Given the description of an element on the screen output the (x, y) to click on. 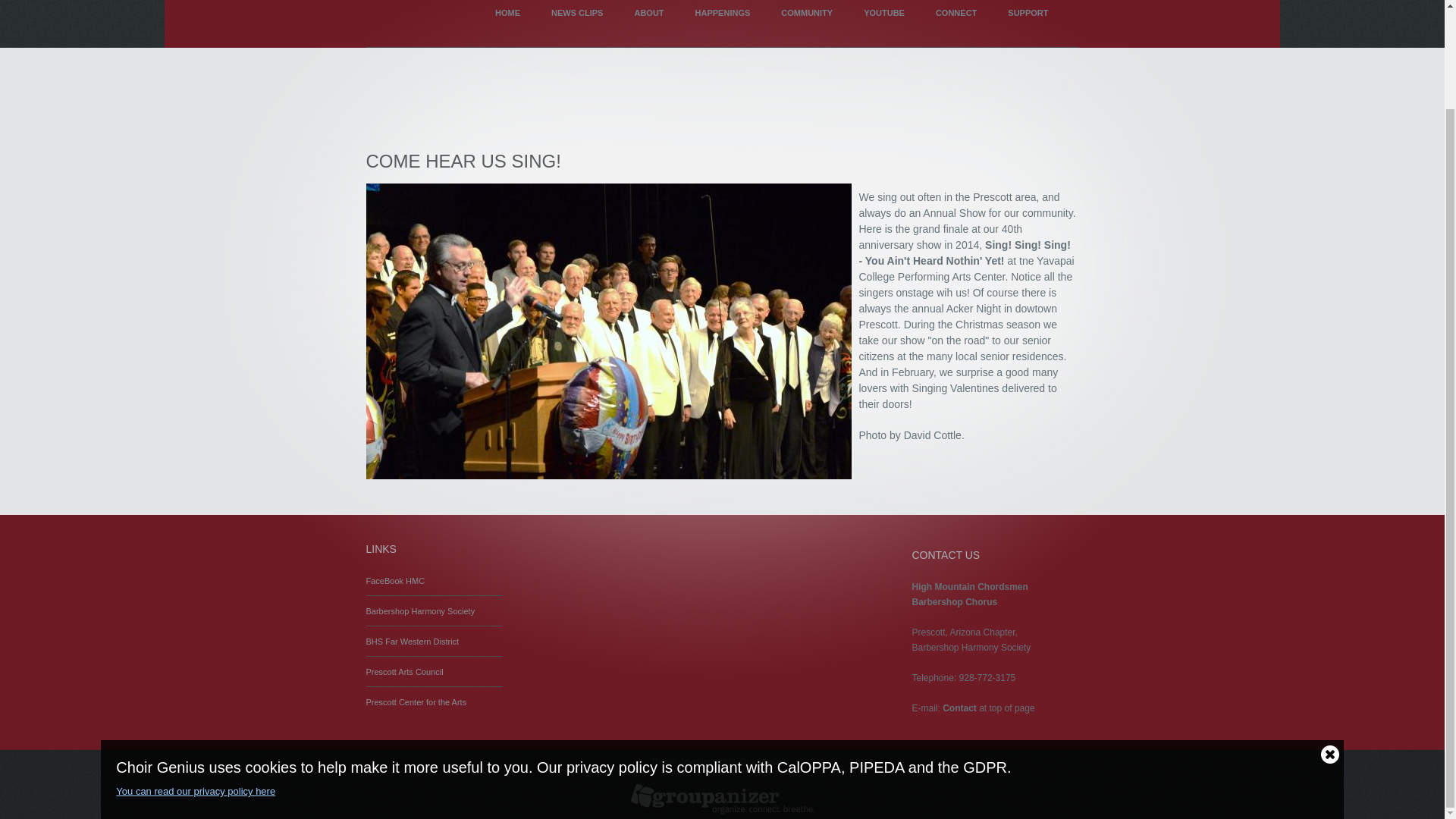
Barbershop Harmony Society (419, 610)
NEWS CLIPS (576, 23)
ABOUT (648, 23)
SUPPORT (1027, 23)
Stories You Might Find Interesting (576, 23)
Close cookie notice (1329, 639)
CONNECT (956, 23)
FaceBook HMC (395, 580)
Prescott Center for the Arts (415, 701)
The Best of Barbershop on YouTube! (884, 23)
BHS Far Western District (411, 641)
You can read our privacy policy here (714, 677)
Prescott Arts Council (403, 671)
COMMUNITY (806, 23)
YOUTUBE (884, 23)
